Given the description of an element on the screen output the (x, y) to click on. 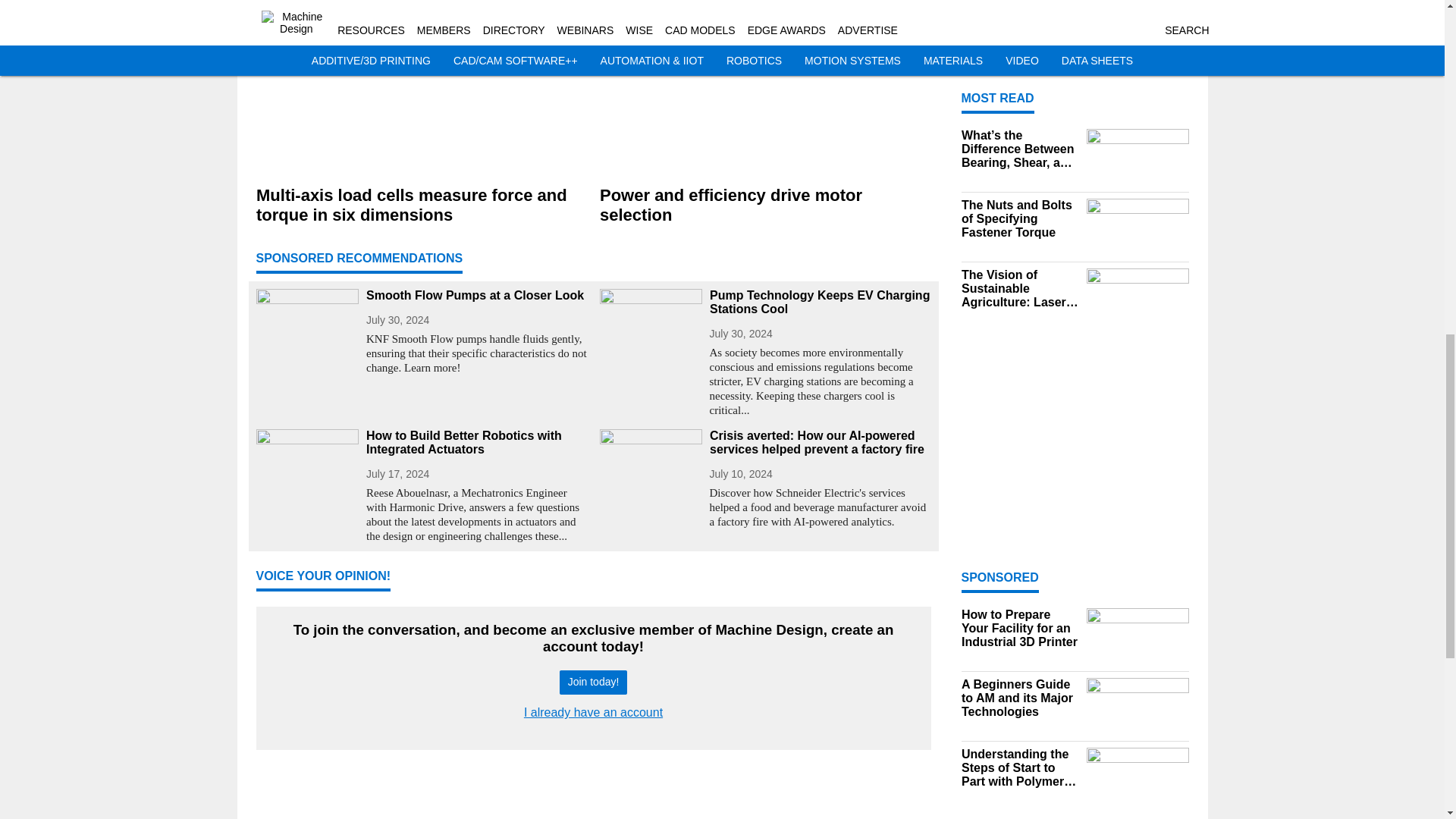
Pump Technology Keeps EV Charging Stations Cool (820, 302)
How to Build Better Robotics with Integrated Actuators (476, 442)
Smooth Flow Pumps at a Closer Look (476, 295)
Power and efficiency drive motor selection (764, 206)
